Given the description of an element on the screen output the (x, y) to click on. 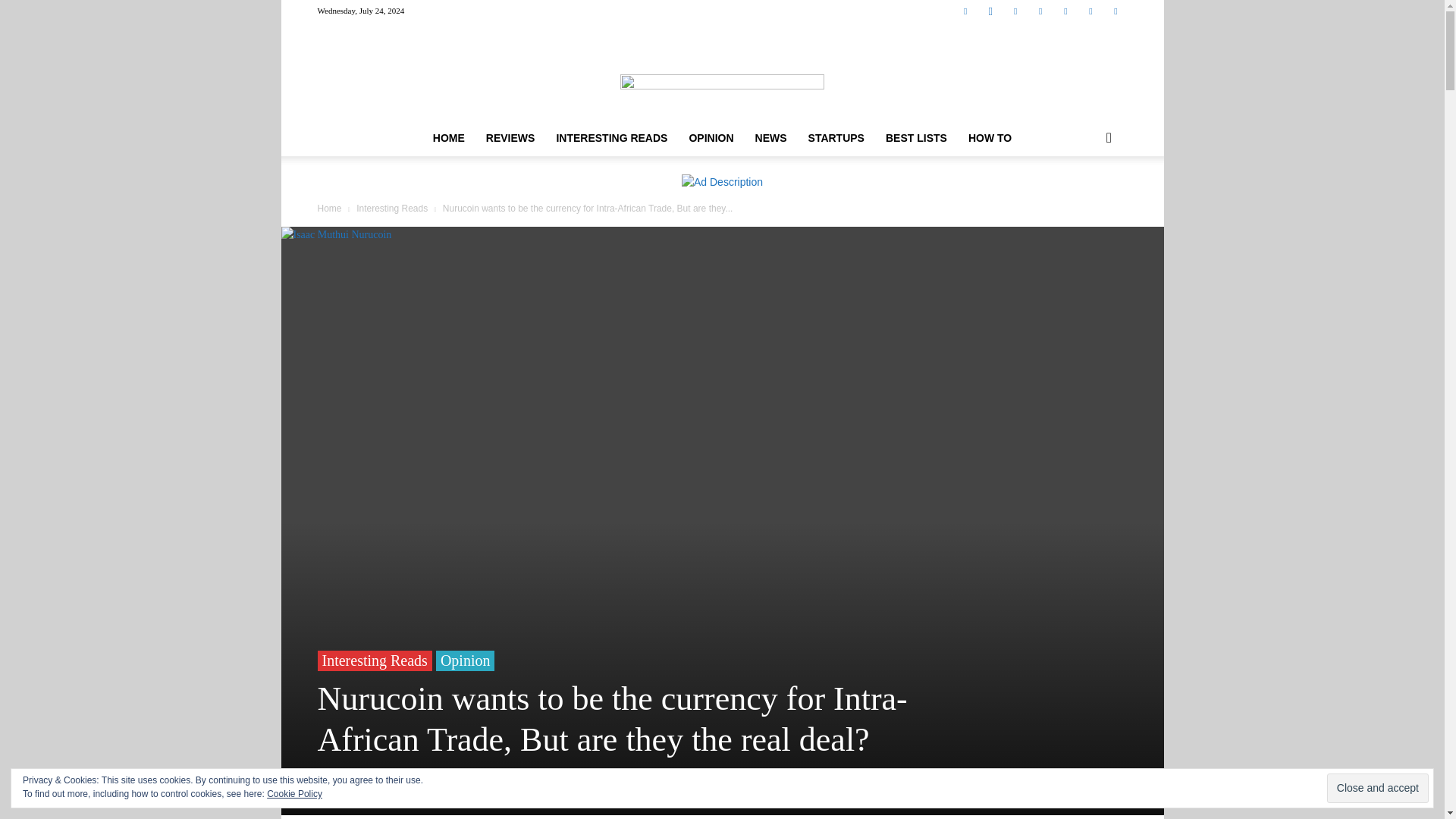
HOW TO (990, 137)
HOME (449, 137)
Facebook (964, 10)
INTERESTING READS (611, 137)
BEST LISTS (916, 137)
Techish Kenya (722, 70)
Instagram (989, 10)
STARTUPS (836, 137)
Telegram (1040, 10)
REVIEWS (511, 137)
OPINION (711, 137)
TikTok (1065, 10)
NEWS (770, 137)
Linkedin (1015, 10)
Close and accept (1377, 788)
